Given the description of an element on the screen output the (x, y) to click on. 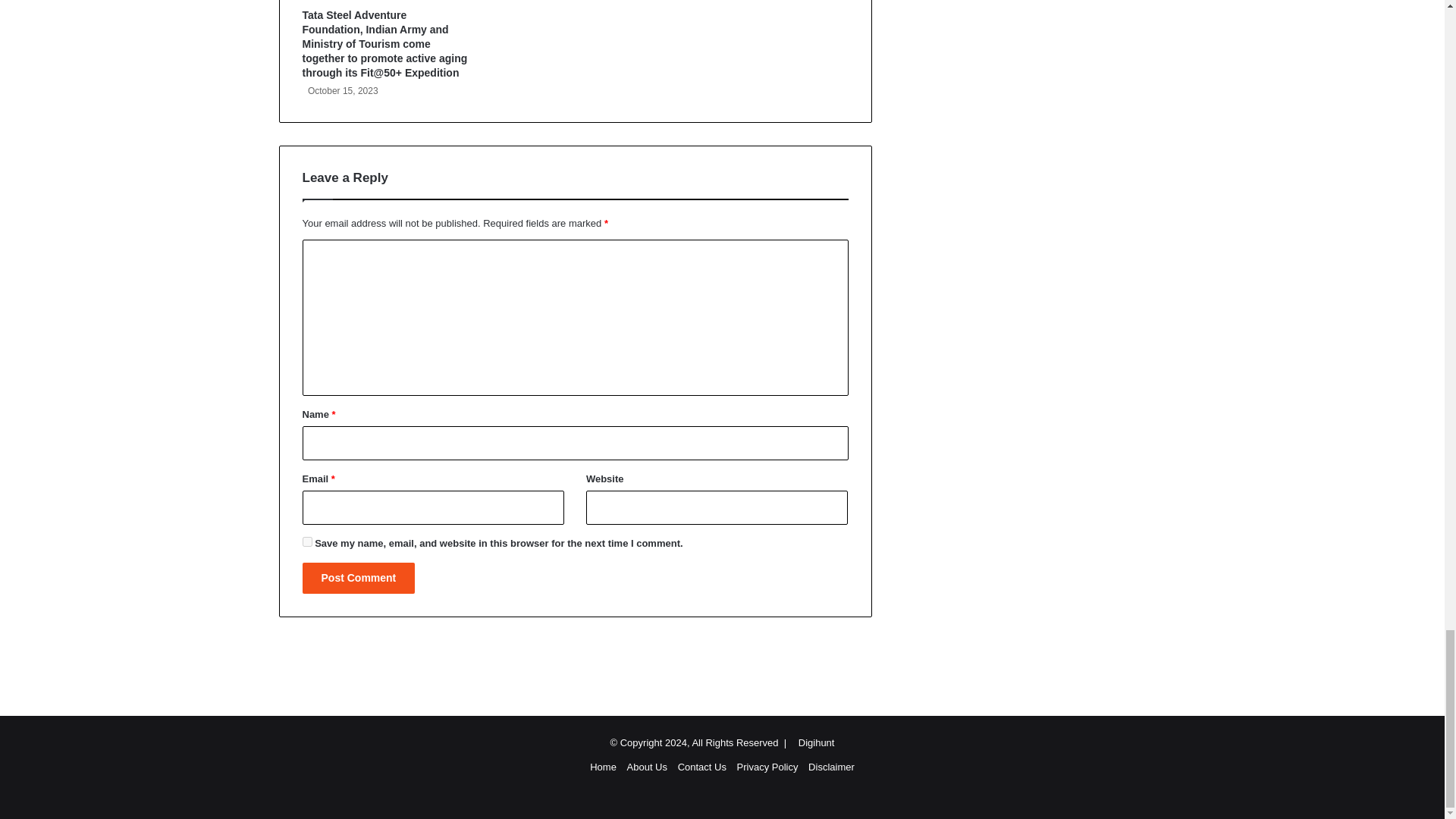
Post Comment (357, 577)
yes (306, 542)
